Given the description of an element on the screen output the (x, y) to click on. 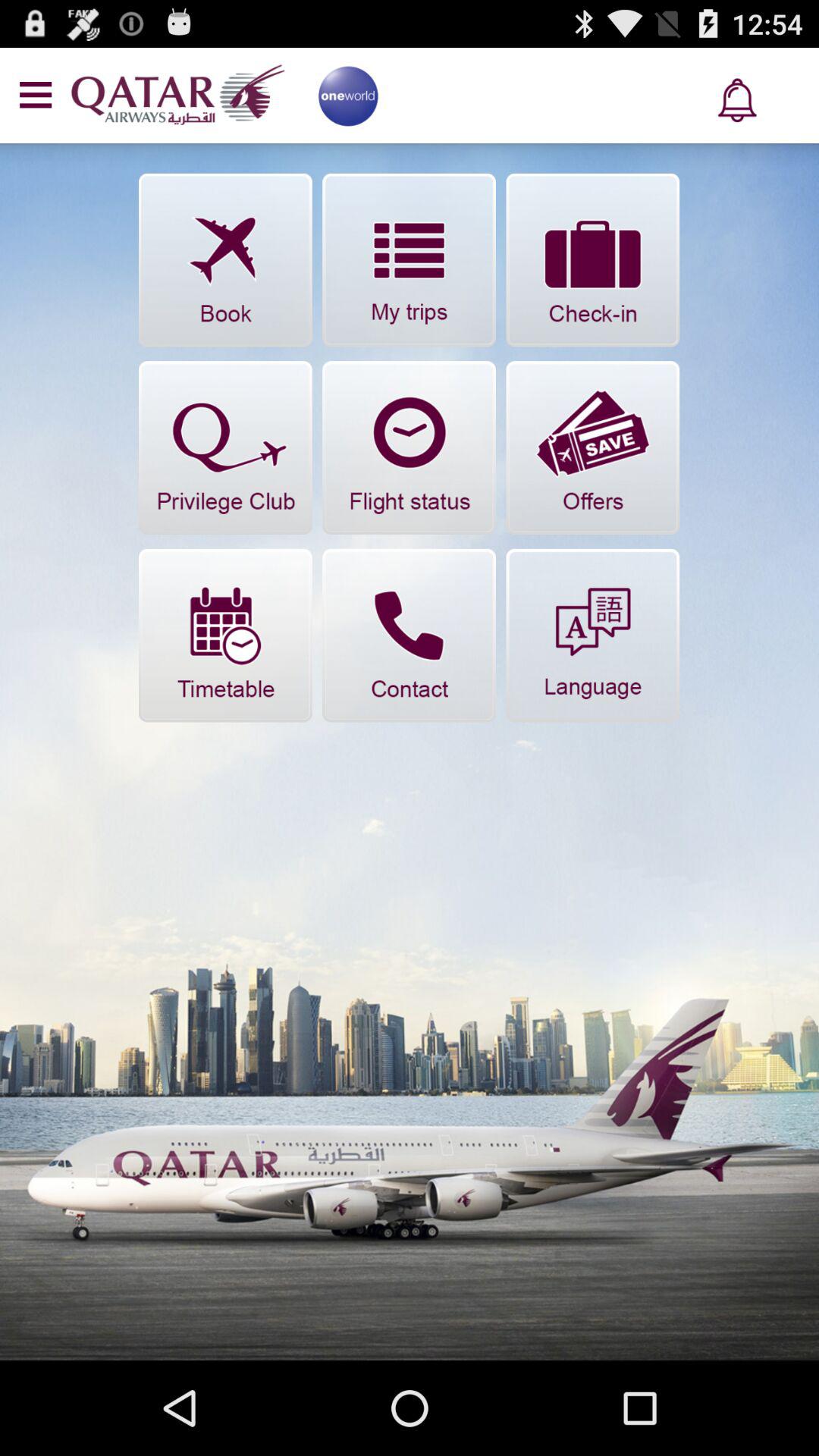
open my trips (408, 259)
